Given the description of an element on the screen output the (x, y) to click on. 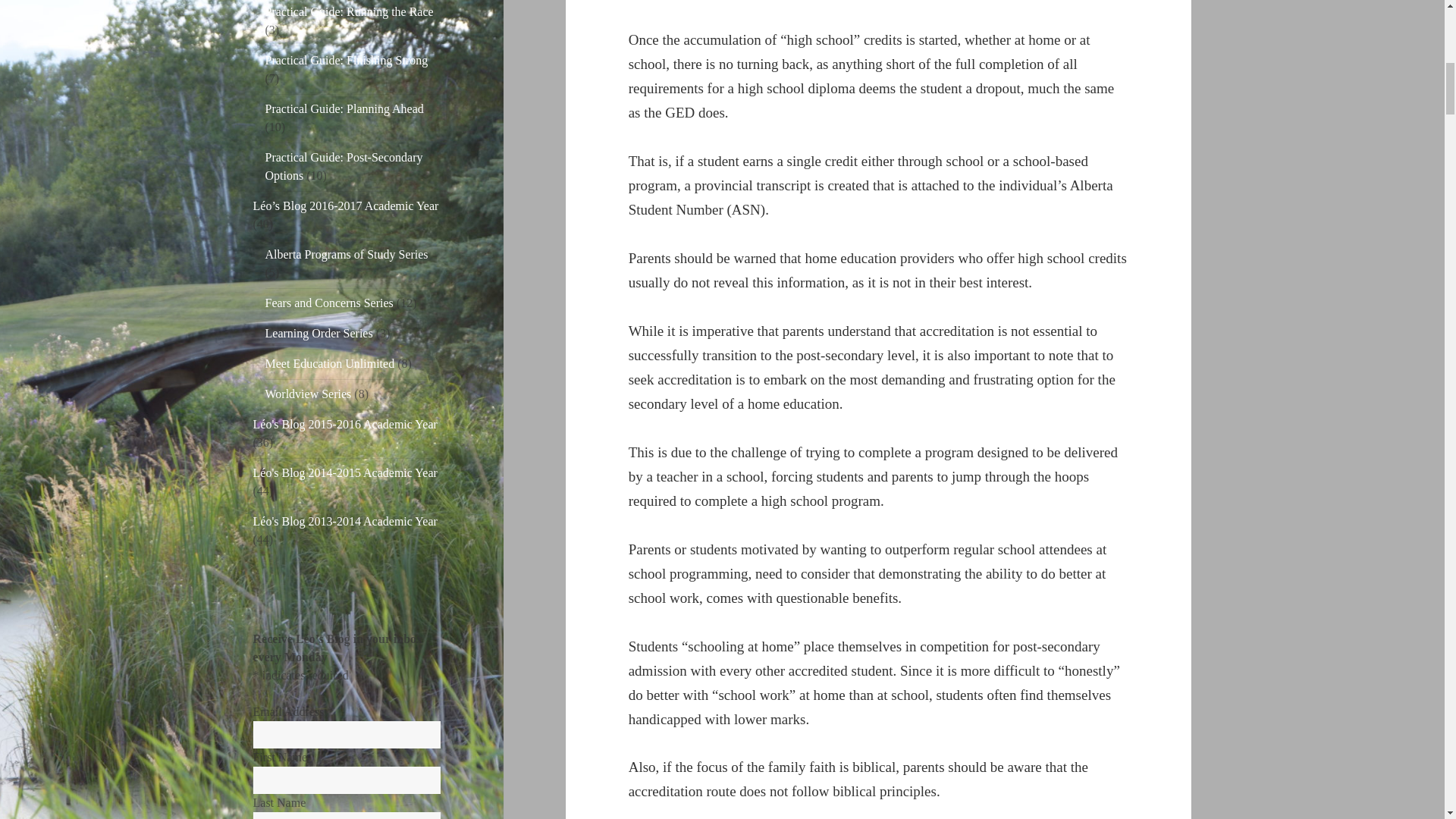
Practical Guide: Finishing Strong (346, 60)
Practical Guide: Planning Ahead (343, 108)
Practical Guide: Running the Race (348, 11)
Worldview Series (308, 393)
Fears and Concerns Series (328, 302)
Alberta Programs of Study Series (346, 254)
Learning Order Series (318, 332)
Meet Education Unlimited (329, 363)
Practical Guide: Post-Secondary Options (343, 165)
